Given the description of an element on the screen output the (x, y) to click on. 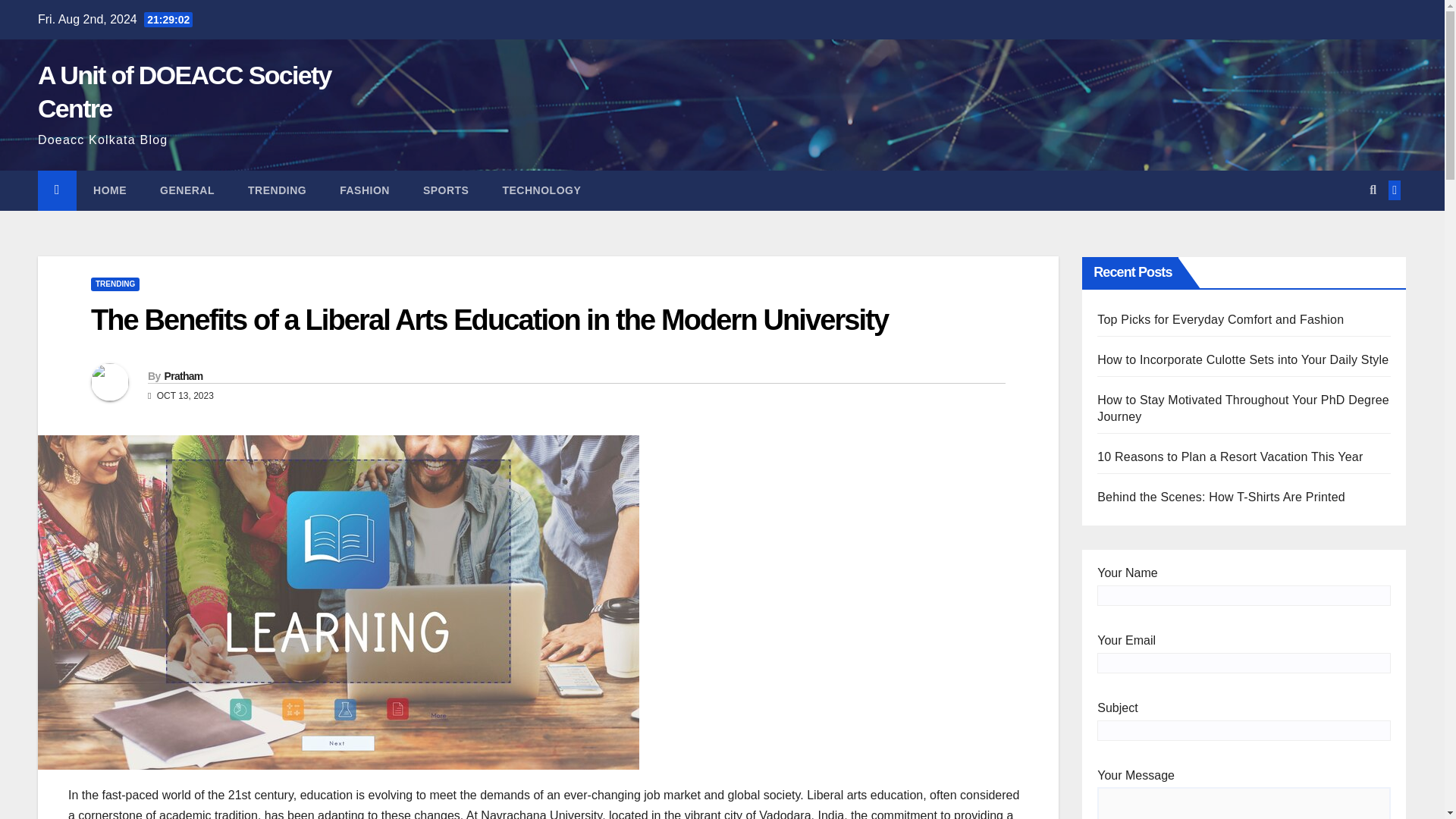
Fashion (364, 189)
Sports (446, 189)
Pratham (182, 376)
A Unit of DOEACC Society Centre (184, 91)
TRENDING (114, 284)
Home (109, 189)
FASHION (364, 189)
Trending (277, 189)
HOME (109, 189)
